Given the description of an element on the screen output the (x, y) to click on. 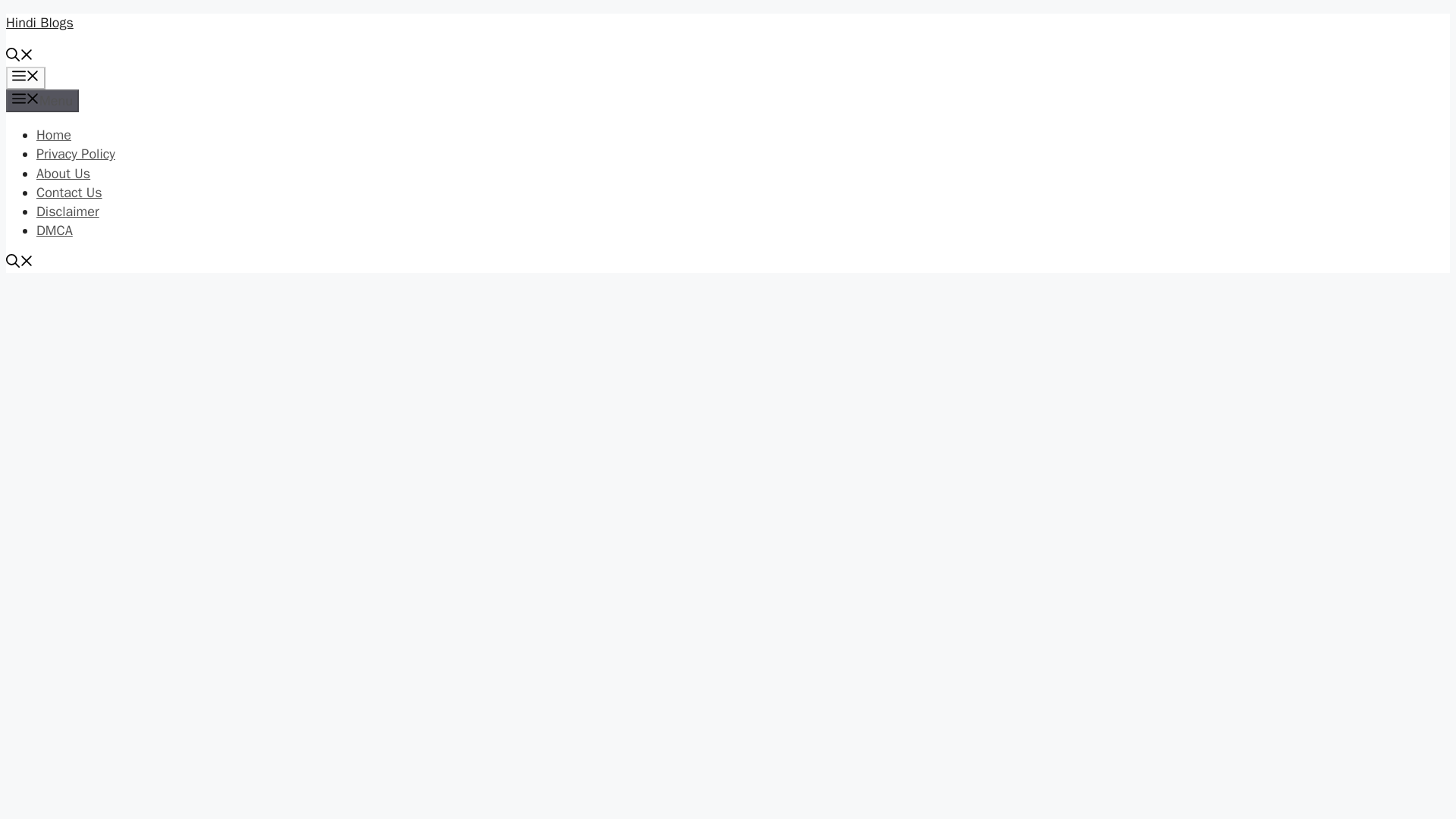
About Us (63, 173)
Home (53, 134)
Disclaimer (67, 211)
Contact Us (68, 192)
DMCA (54, 230)
Hindi Blogs (39, 22)
Menu (41, 100)
Menu (25, 77)
Privacy Policy (75, 153)
